Given the description of an element on the screen output the (x, y) to click on. 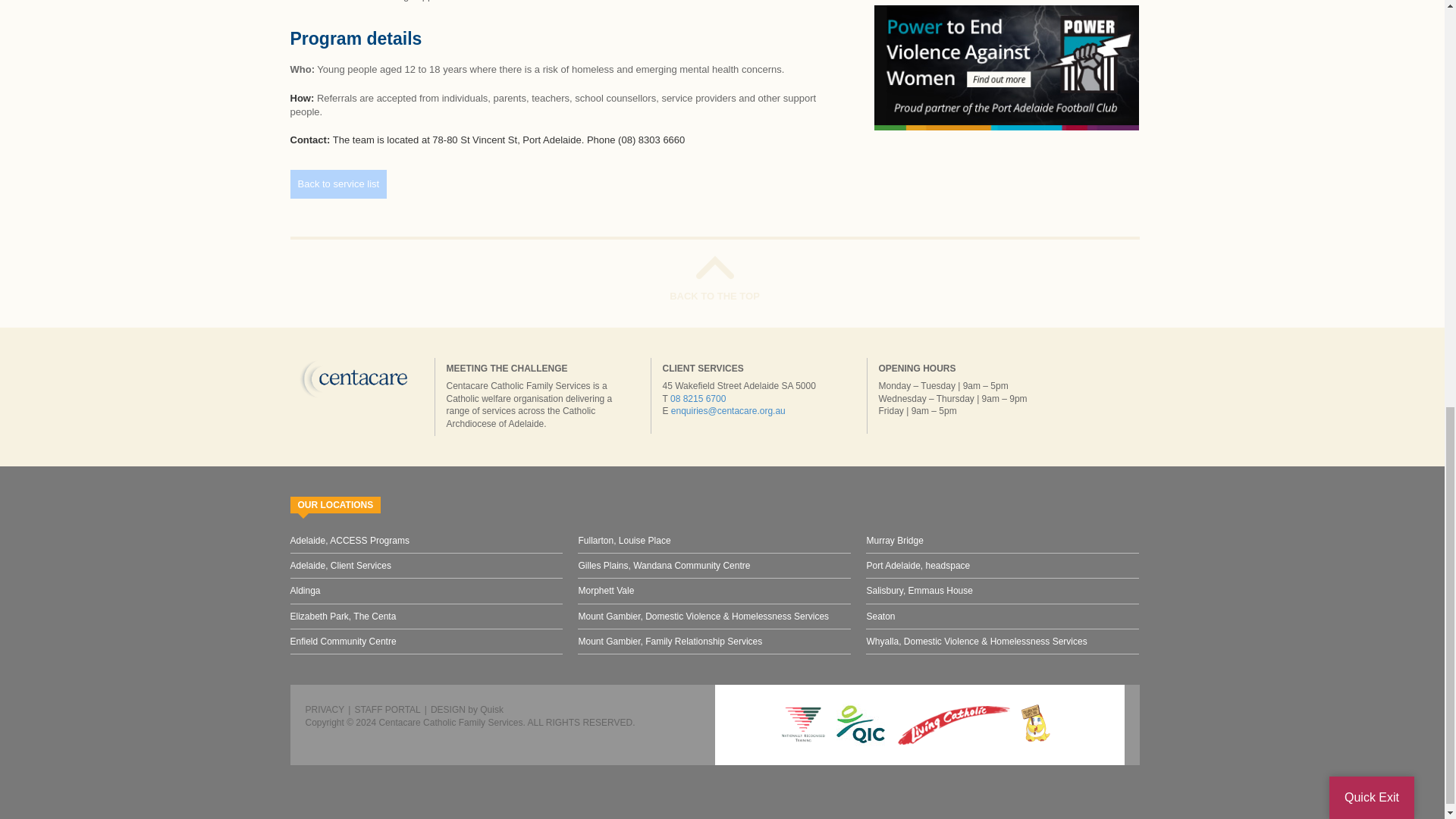
Living Catholic (953, 724)
Skills SA (803, 724)
Quality Improvement Council (860, 724)
